Given the description of an element on the screen output the (x, y) to click on. 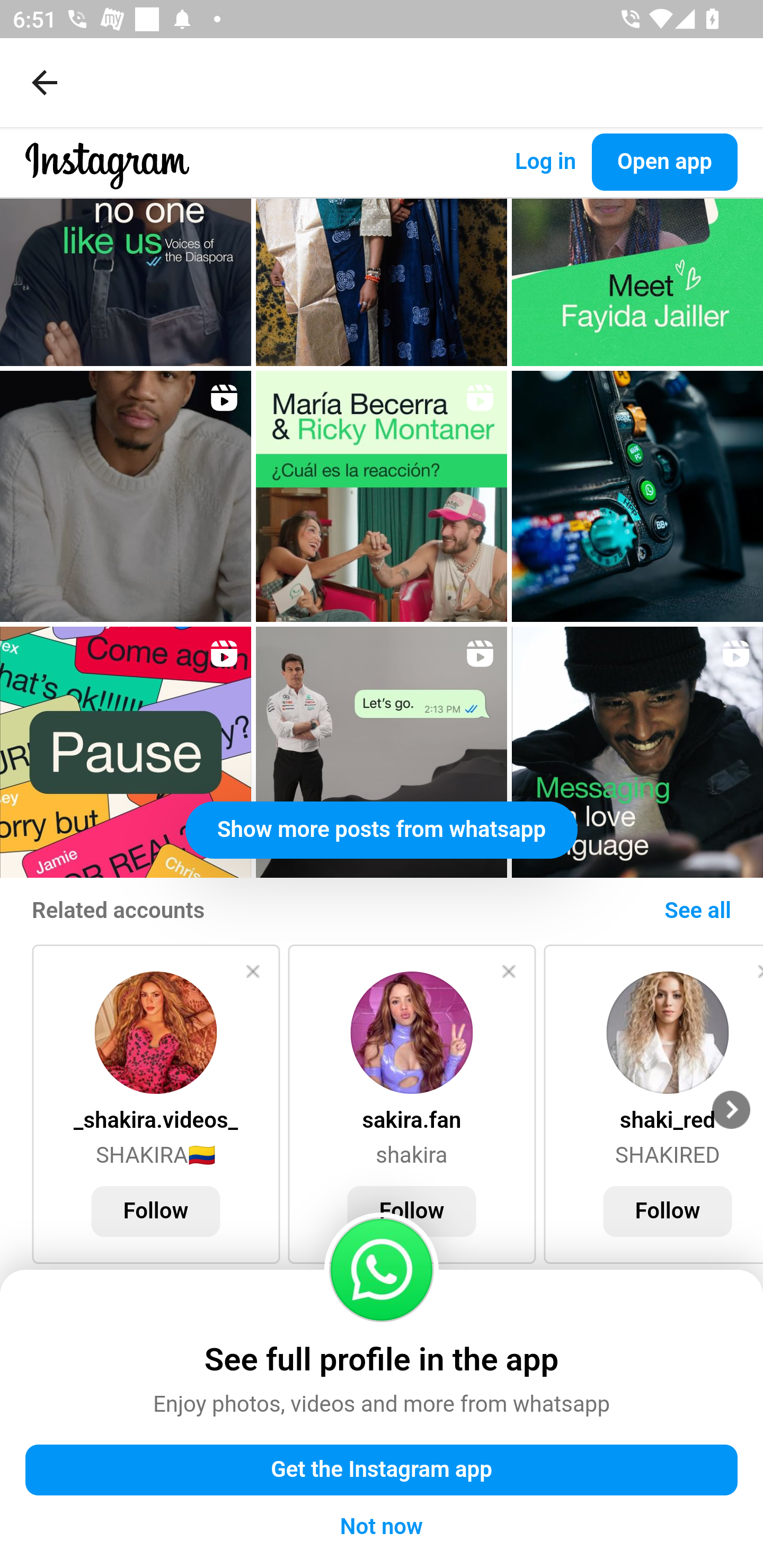
Navigate up (44, 82)
See all (697, 911)
Next (731, 1109)
